Given the description of an element on the screen output the (x, y) to click on. 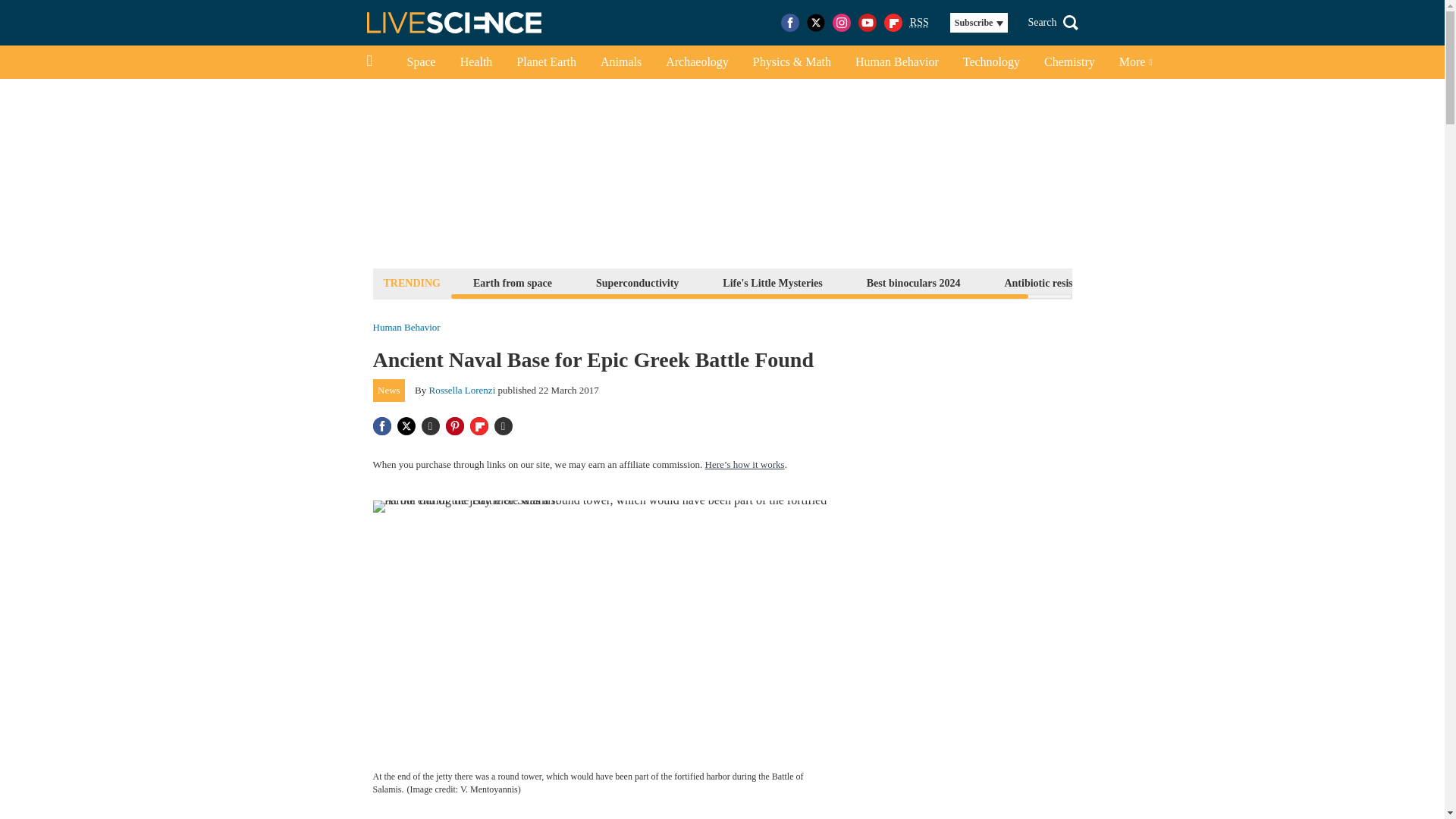
Superconductivity (637, 282)
Best binoculars 2024 (913, 282)
Really Simple Syndication (919, 21)
Human Behavior (896, 61)
Animals (620, 61)
Chemistry (1069, 61)
Archaeology (697, 61)
Planet Earth (545, 61)
Health (476, 61)
Antibiotic resistance (1050, 282)
